Given the description of an element on the screen output the (x, y) to click on. 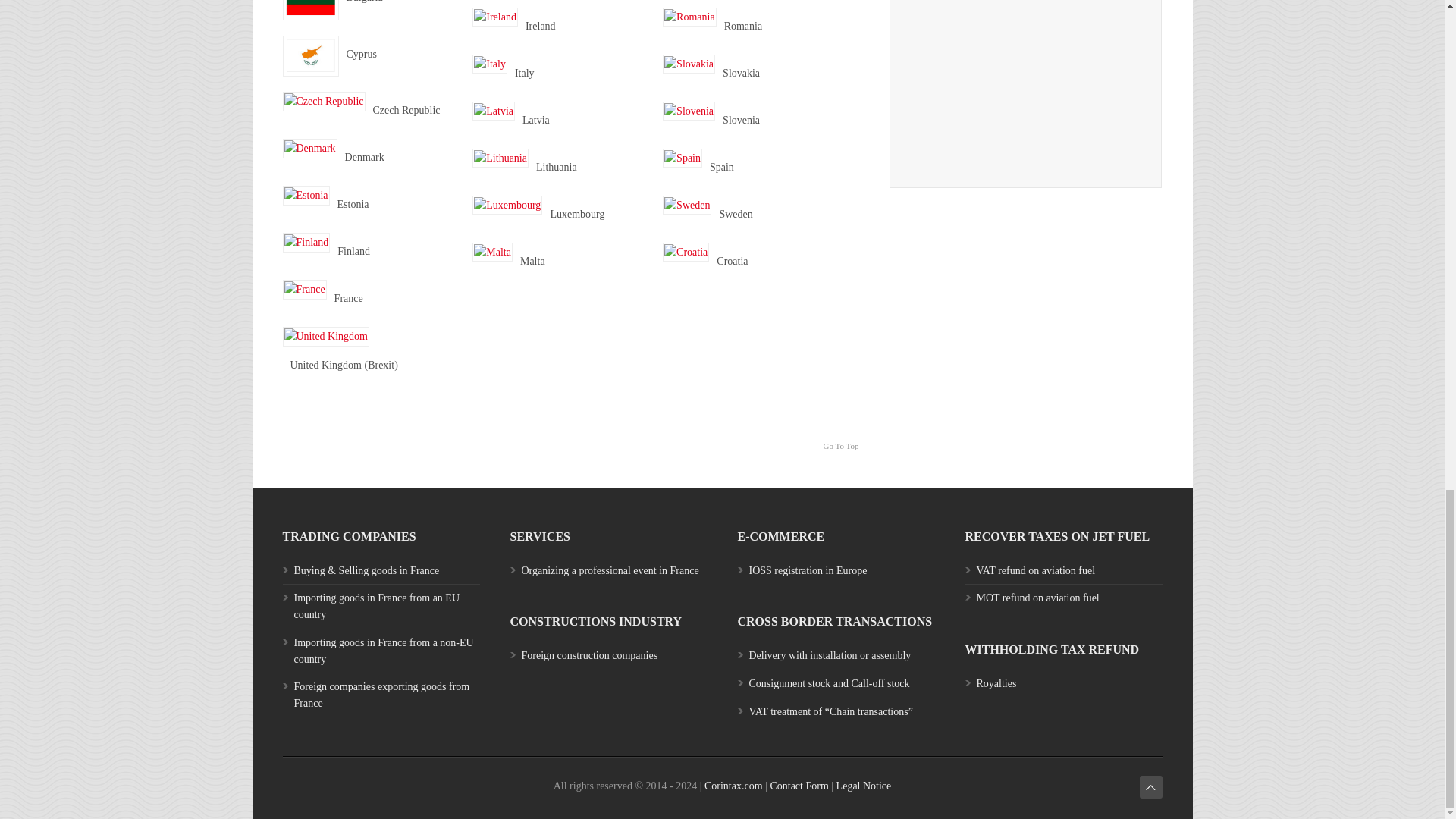
Czech Republic (323, 101)
Denmark (309, 148)
Cyprus (309, 56)
France (304, 289)
Ireland (494, 17)
Estonia (305, 195)
Finland (306, 242)
United Kingdom (325, 336)
Bulgaria (309, 10)
Go To Top (570, 444)
